Given the description of an element on the screen output the (x, y) to click on. 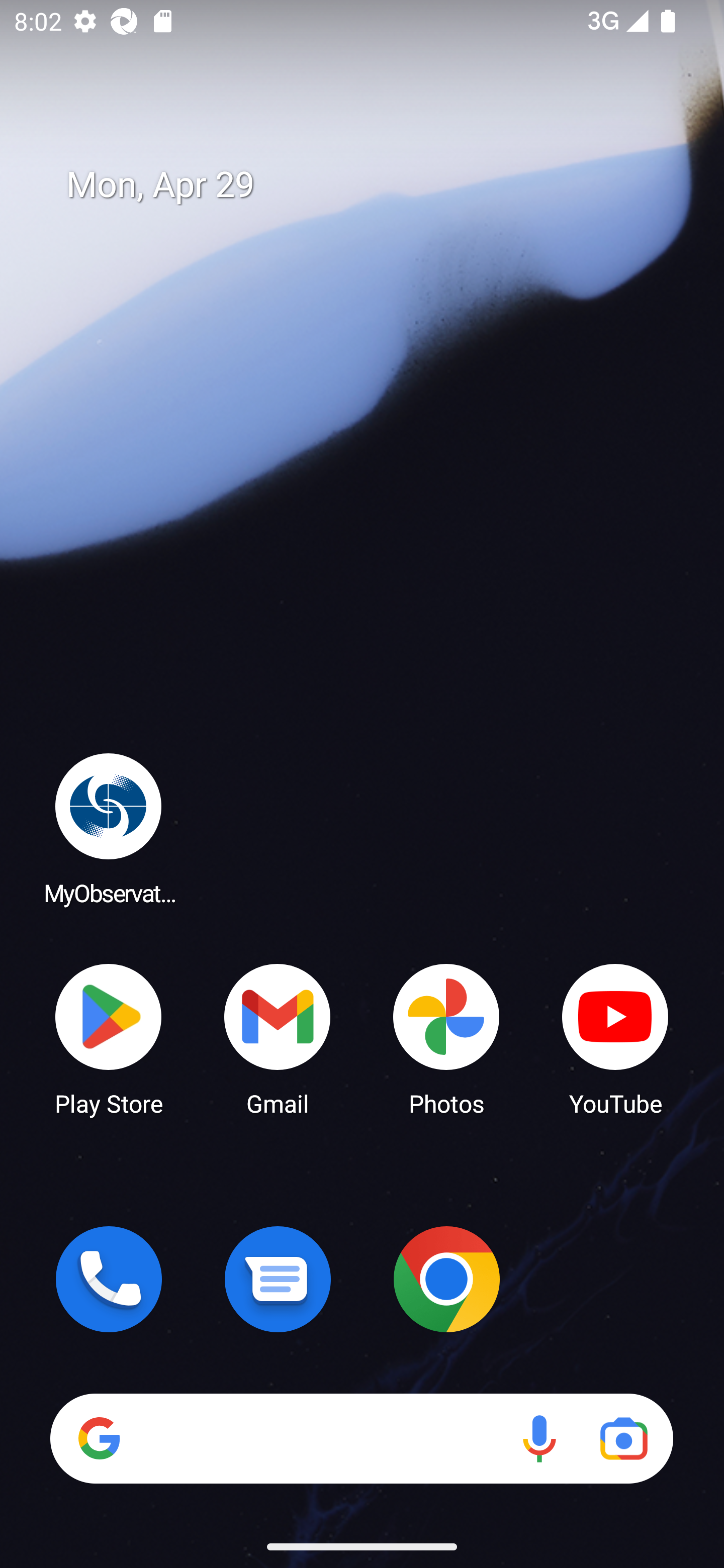
Mon, Apr 29 (375, 184)
MyObservatory (108, 828)
Play Store (108, 1038)
Gmail (277, 1038)
Photos (445, 1038)
YouTube (615, 1038)
Phone (108, 1279)
Messages (277, 1279)
Chrome (446, 1279)
Voice search (539, 1438)
Google Lens (623, 1438)
